Given the description of an element on the screen output the (x, y) to click on. 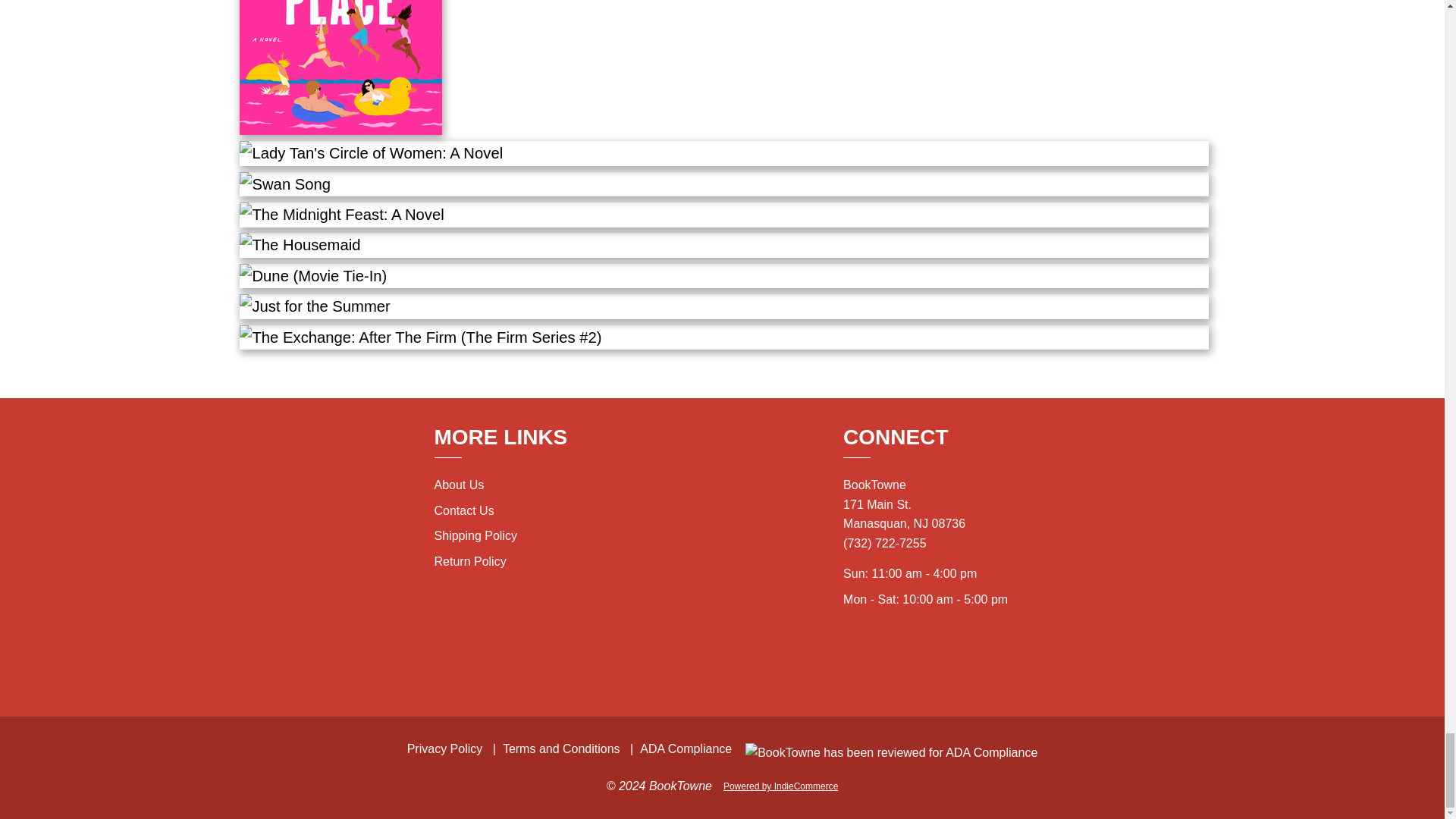
Connect with Instagram (876, 663)
Connect with Twitter (909, 663)
Connect with Tik Tok (976, 663)
Connect with Facebook (943, 663)
